Given the description of an element on the screen output the (x, y) to click on. 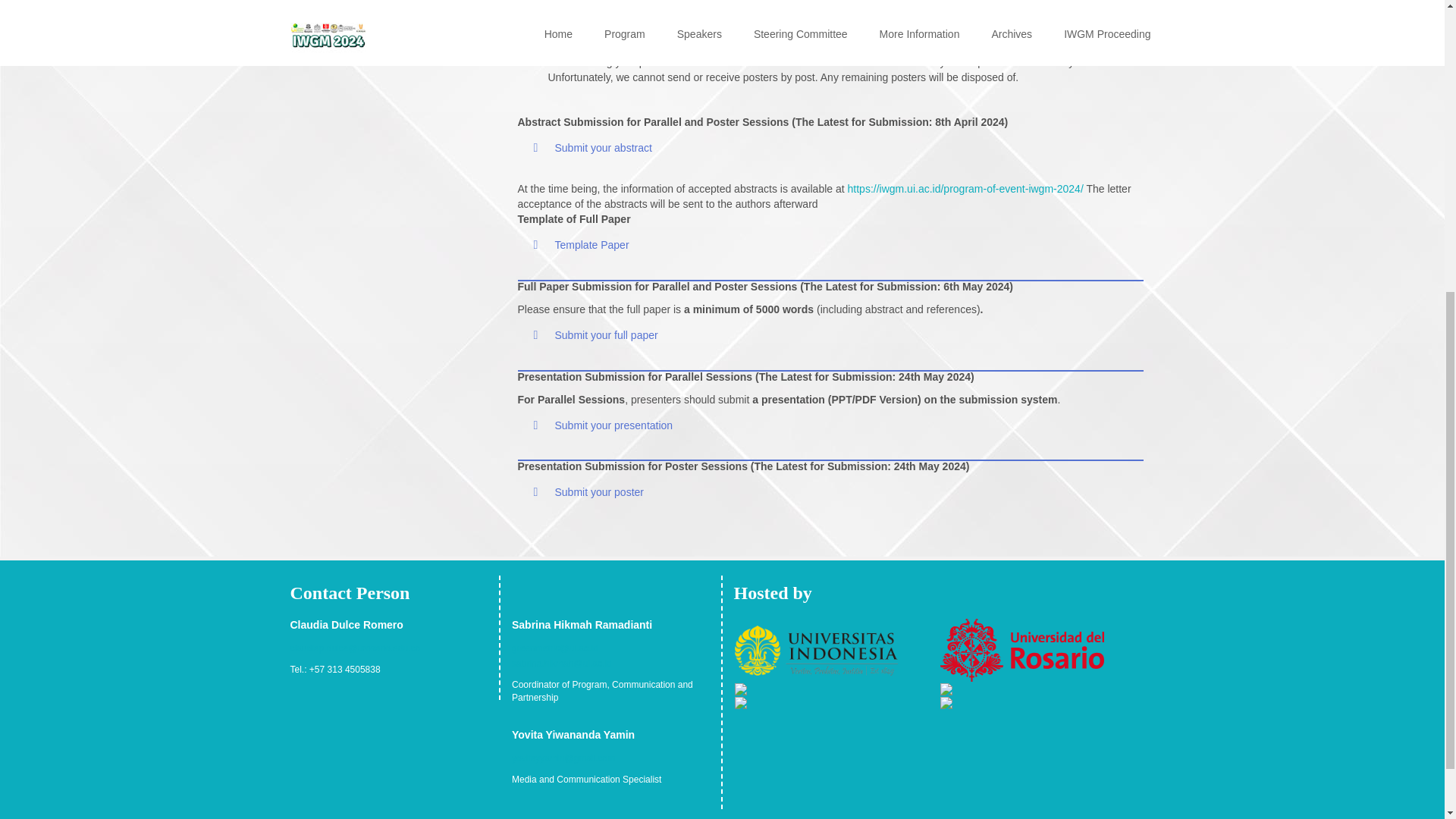
Template Paper 2024 (580, 244)
Submit your abstract (591, 147)
